Given the description of an element on the screen output the (x, y) to click on. 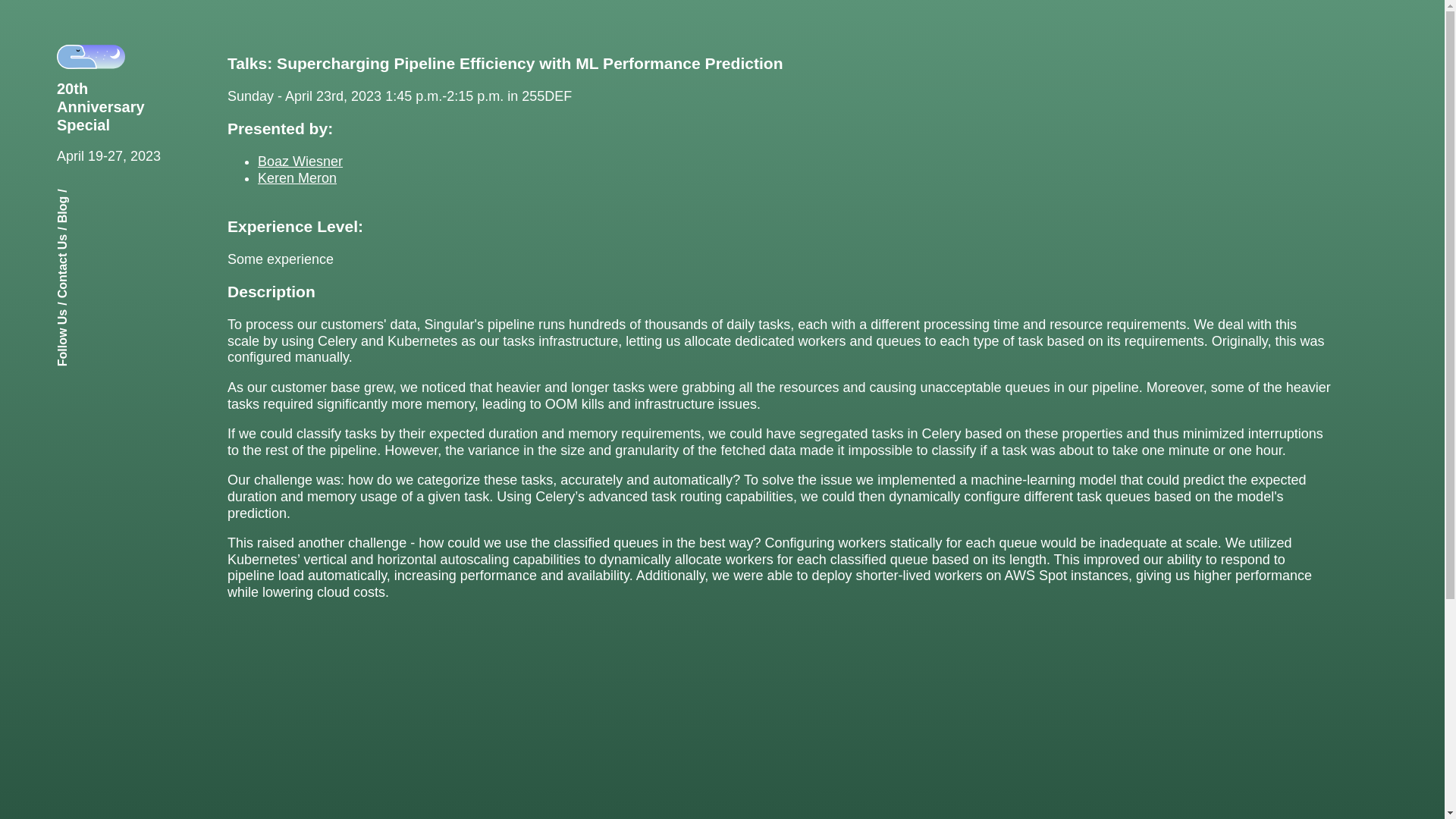
Keren Meron (296, 177)
Menu (1368, 75)
20th Anniversary Special (113, 106)
Boaz Wiesner (299, 160)
Blog (69, 202)
Day (90, 56)
Follow Us (84, 315)
Contact Us (87, 240)
